Given the description of an element on the screen output the (x, y) to click on. 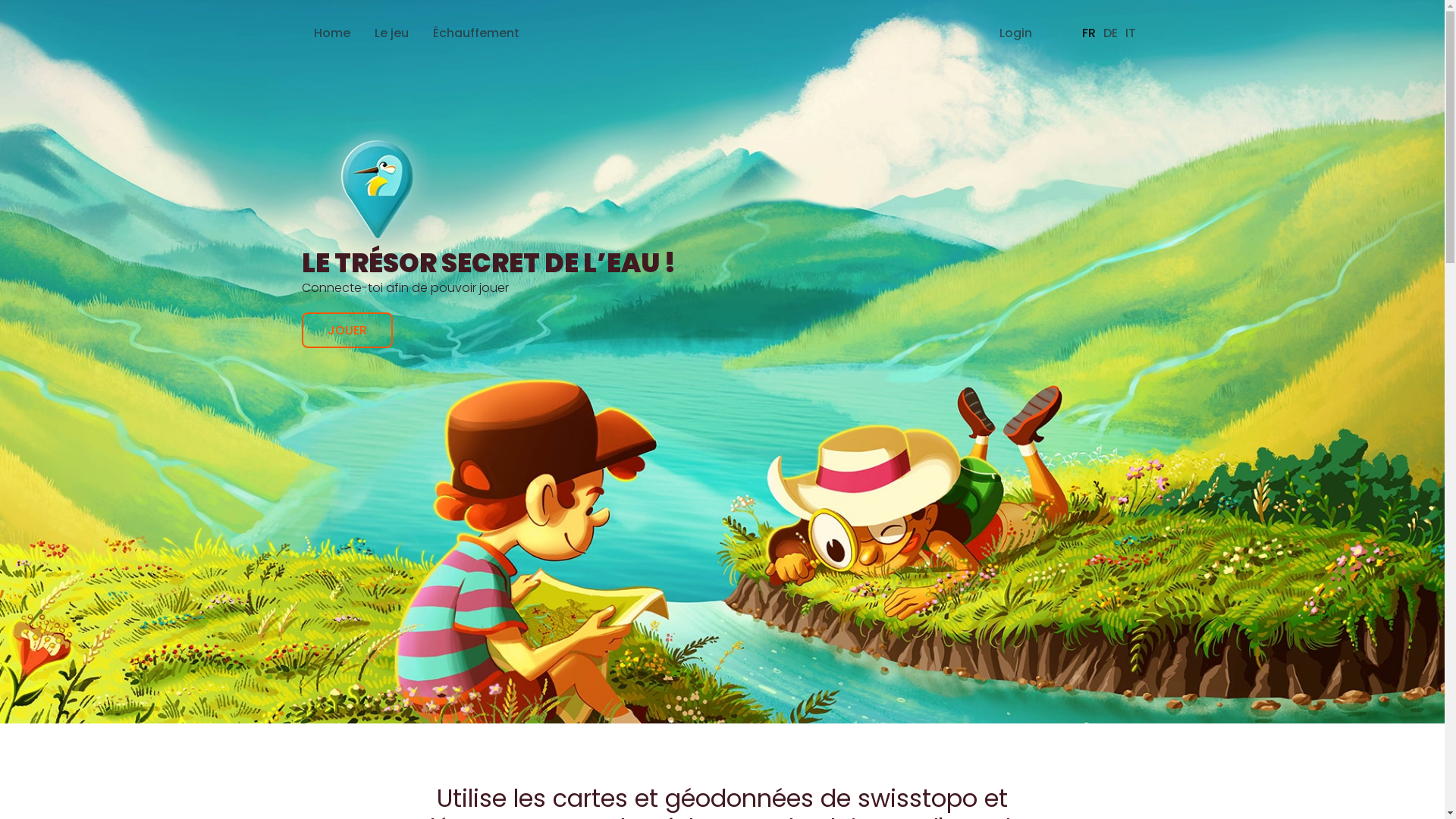
Le jeu Element type: text (391, 33)
Aller au contenu principal Element type: text (0, 0)
Login Element type: text (1015, 33)
Home Element type: text (331, 33)
FR Element type: text (1088, 32)
JOUER Element type: text (346, 330)
IT Element type: text (1130, 32)
DE Element type: text (1109, 32)
